Given the description of an element on the screen output the (x, y) to click on. 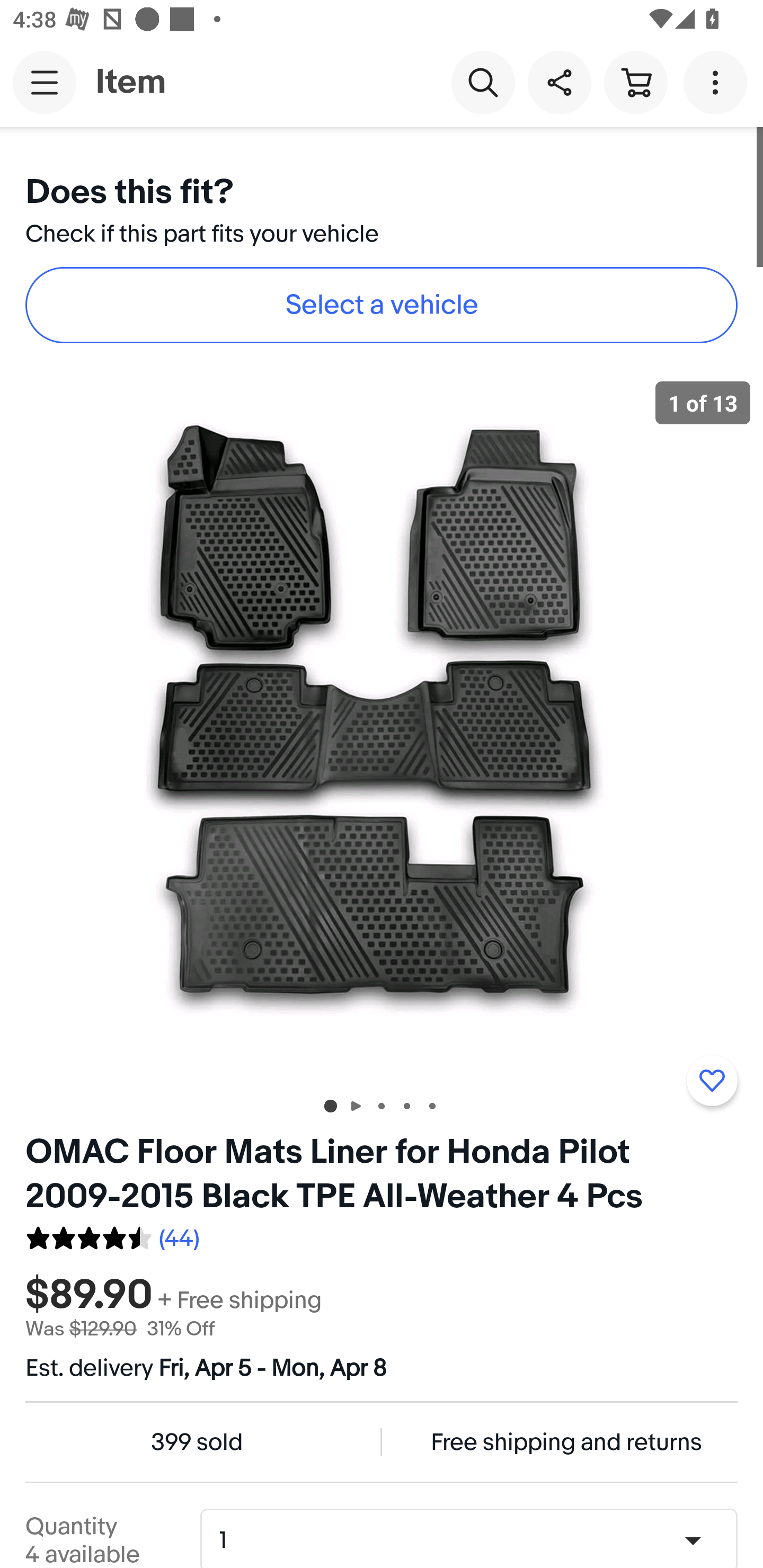
Main navigation, open (44, 82)
Search (482, 81)
Share this item (559, 81)
Cart button shopping cart (635, 81)
More options (718, 81)
Select a vehicle (381, 304)
Item image 1 of 13 (381, 724)
Add to watchlist (711, 1080)
Quantity,1,4 available 1 (474, 1540)
